Given the description of an element on the screen output the (x, y) to click on. 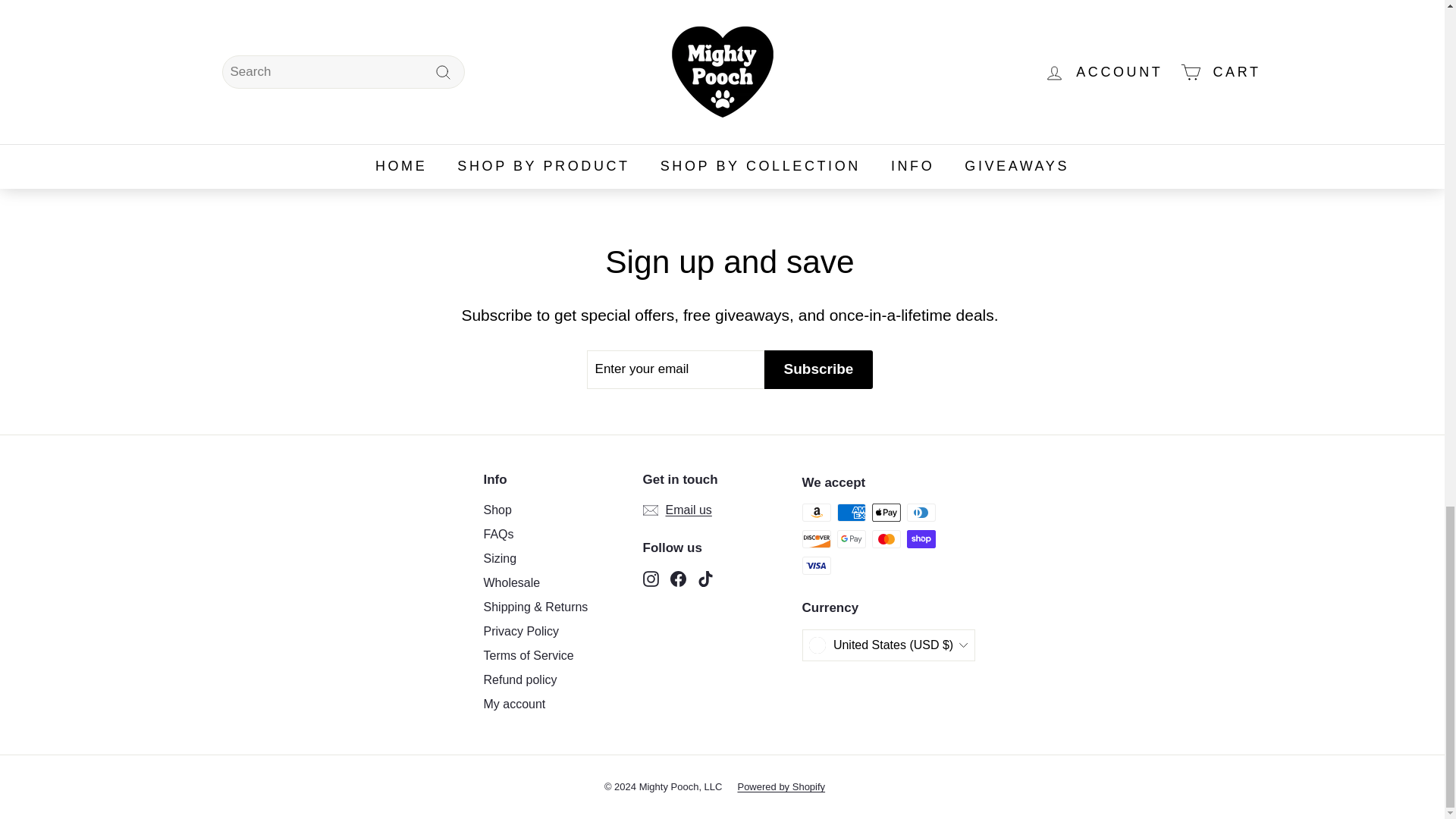
Apple Pay (886, 512)
Amazon (816, 512)
American Express (851, 512)
